Given the description of an element on the screen output the (x, y) to click on. 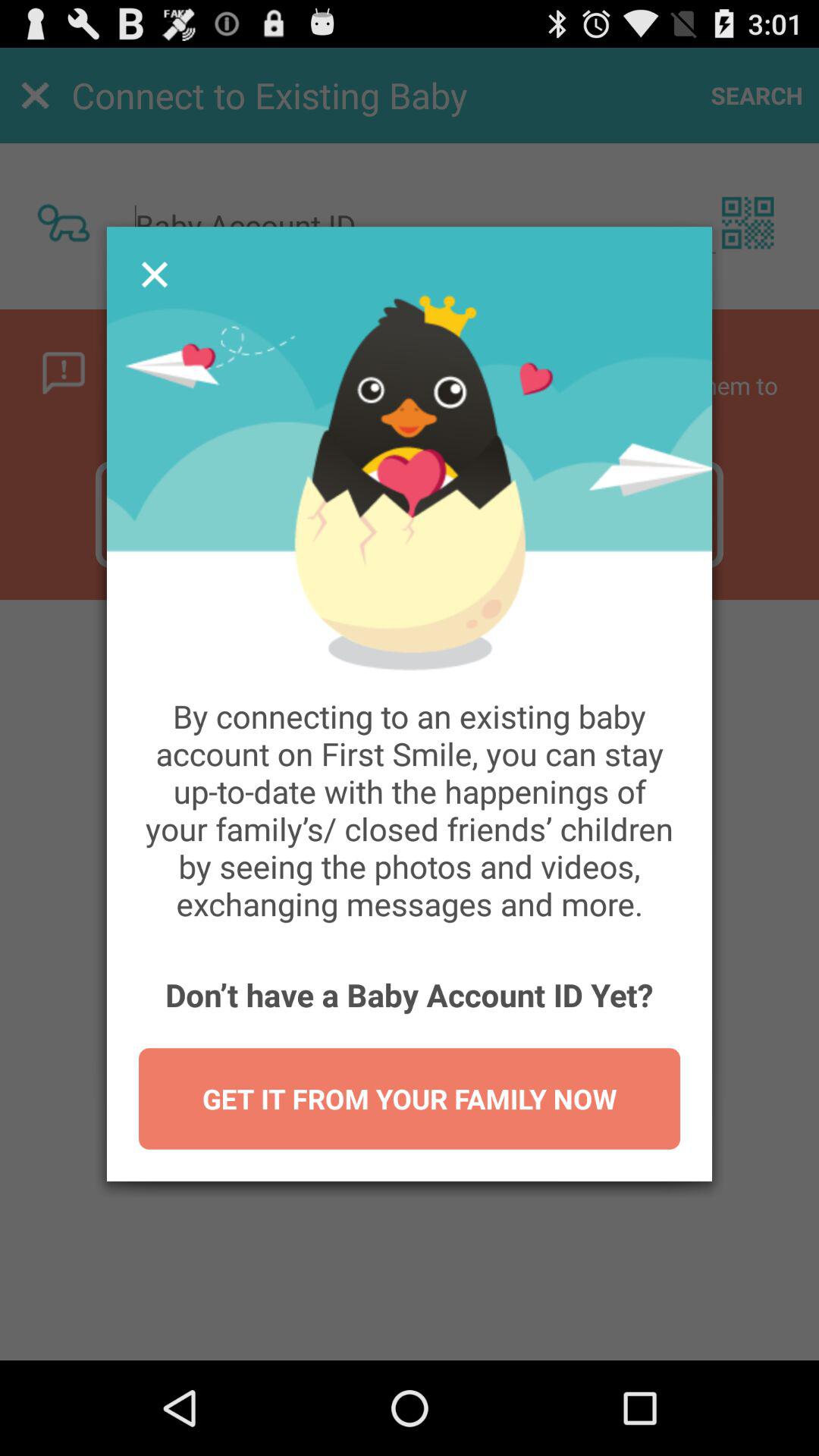
open app above the by connecting to app (154, 274)
